Given the description of an element on the screen output the (x, y) to click on. 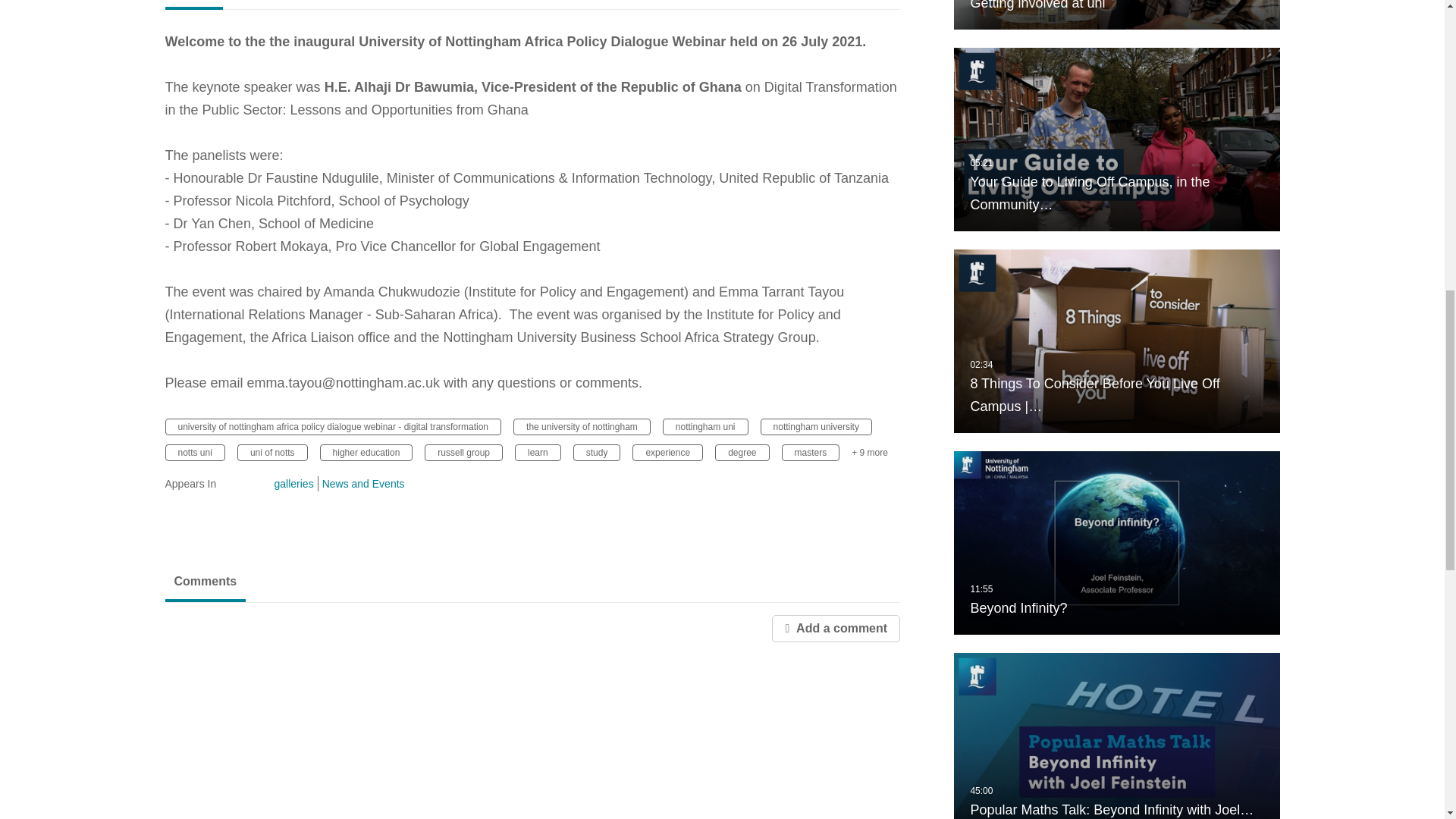
Getting involved at uni (1116, 14)
Popular Maths Talk: Beyond Infinity with Joel Feinstein (1116, 735)
Beyond Infinity? (1116, 542)
Appears In (210, 483)
